Given the description of an element on the screen output the (x, y) to click on. 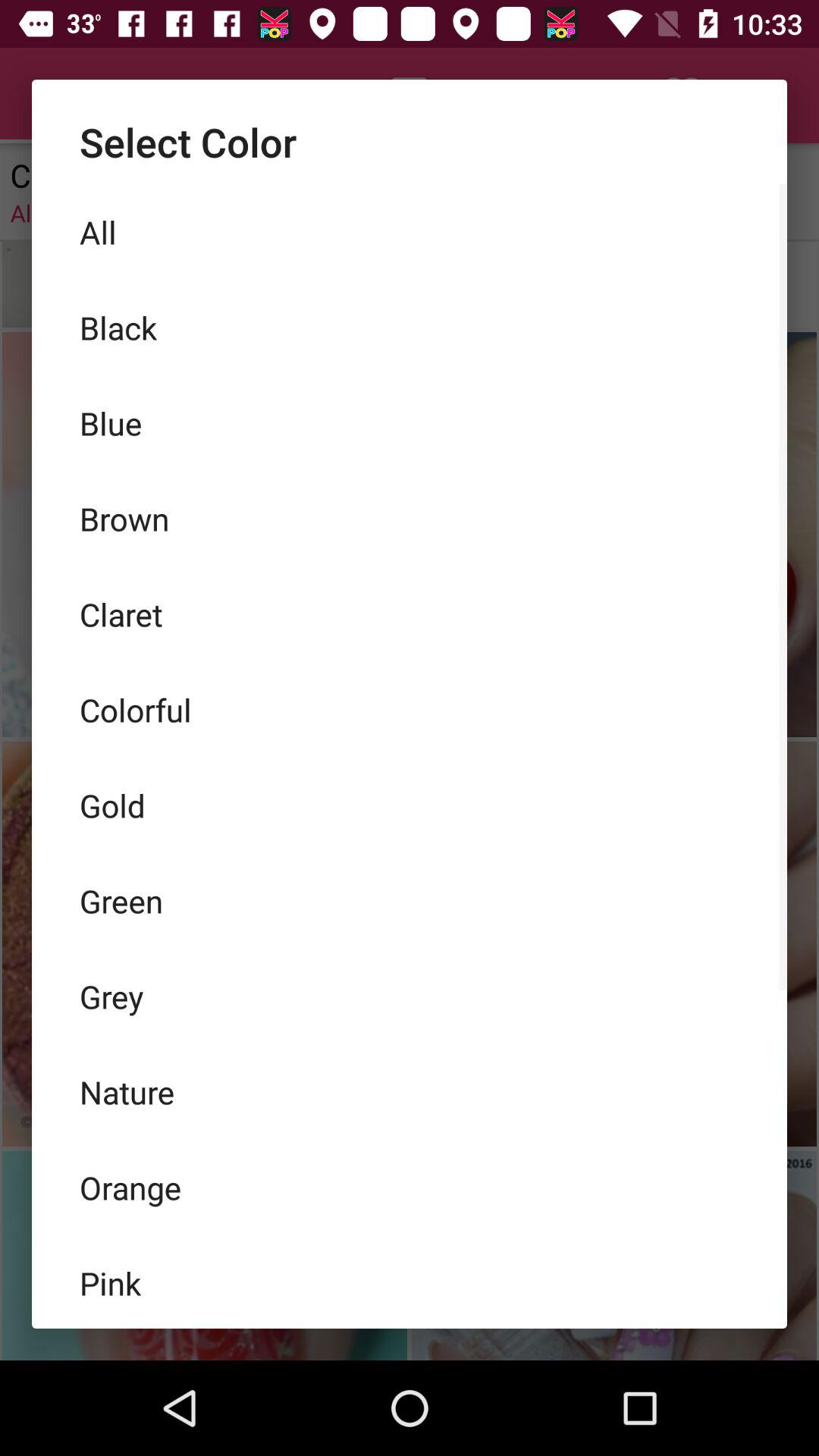
press the all (409, 231)
